Given the description of an element on the screen output the (x, y) to click on. 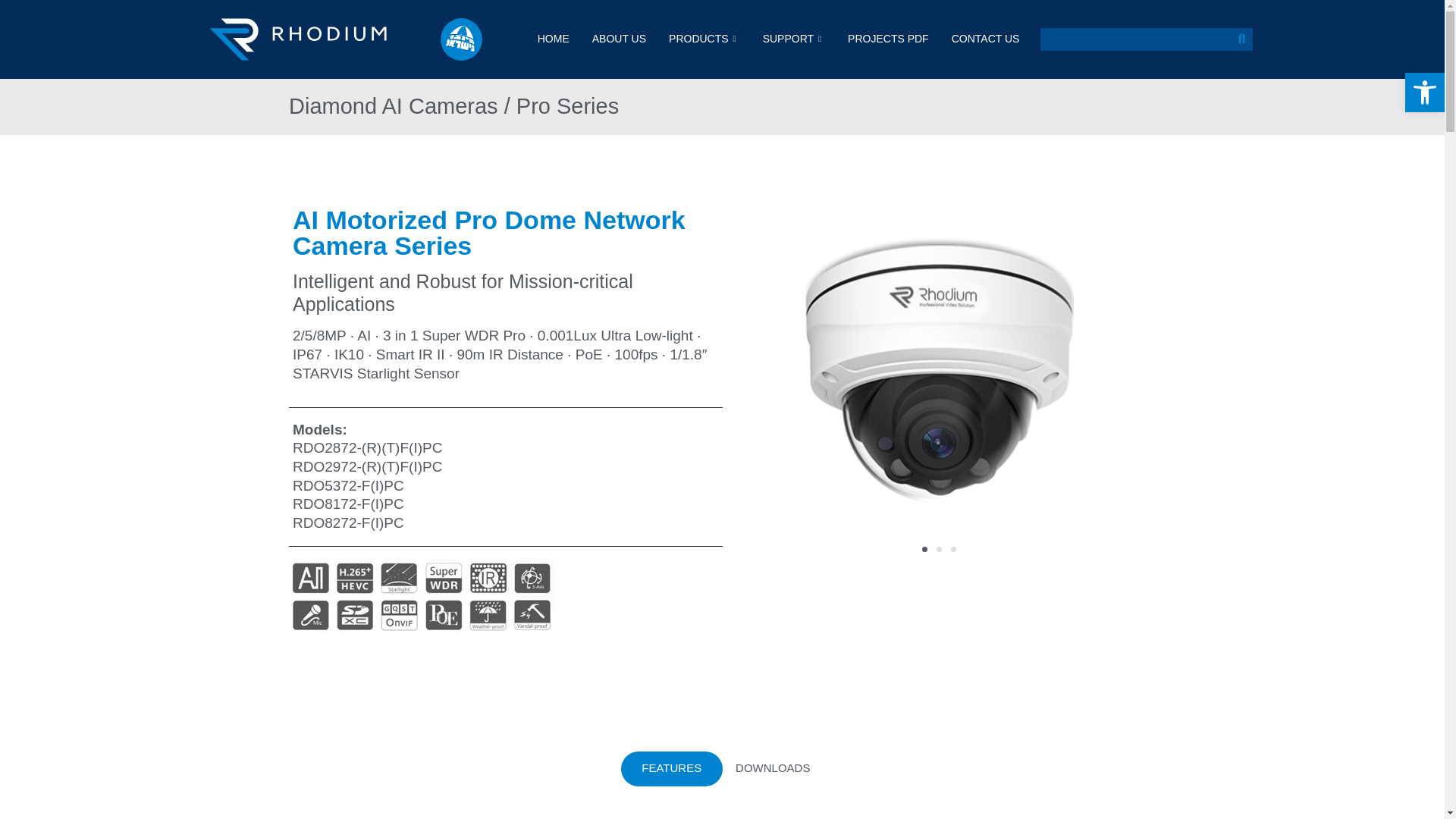
CONTACT US (985, 39)
Search (1241, 38)
SUPPORT (793, 39)
Accessibility Tools (1424, 92)
Search (1135, 38)
PROJECTS PDF (887, 39)
ABOUT US (619, 39)
PRODUCTS (704, 39)
